Given the description of an element on the screen output the (x, y) to click on. 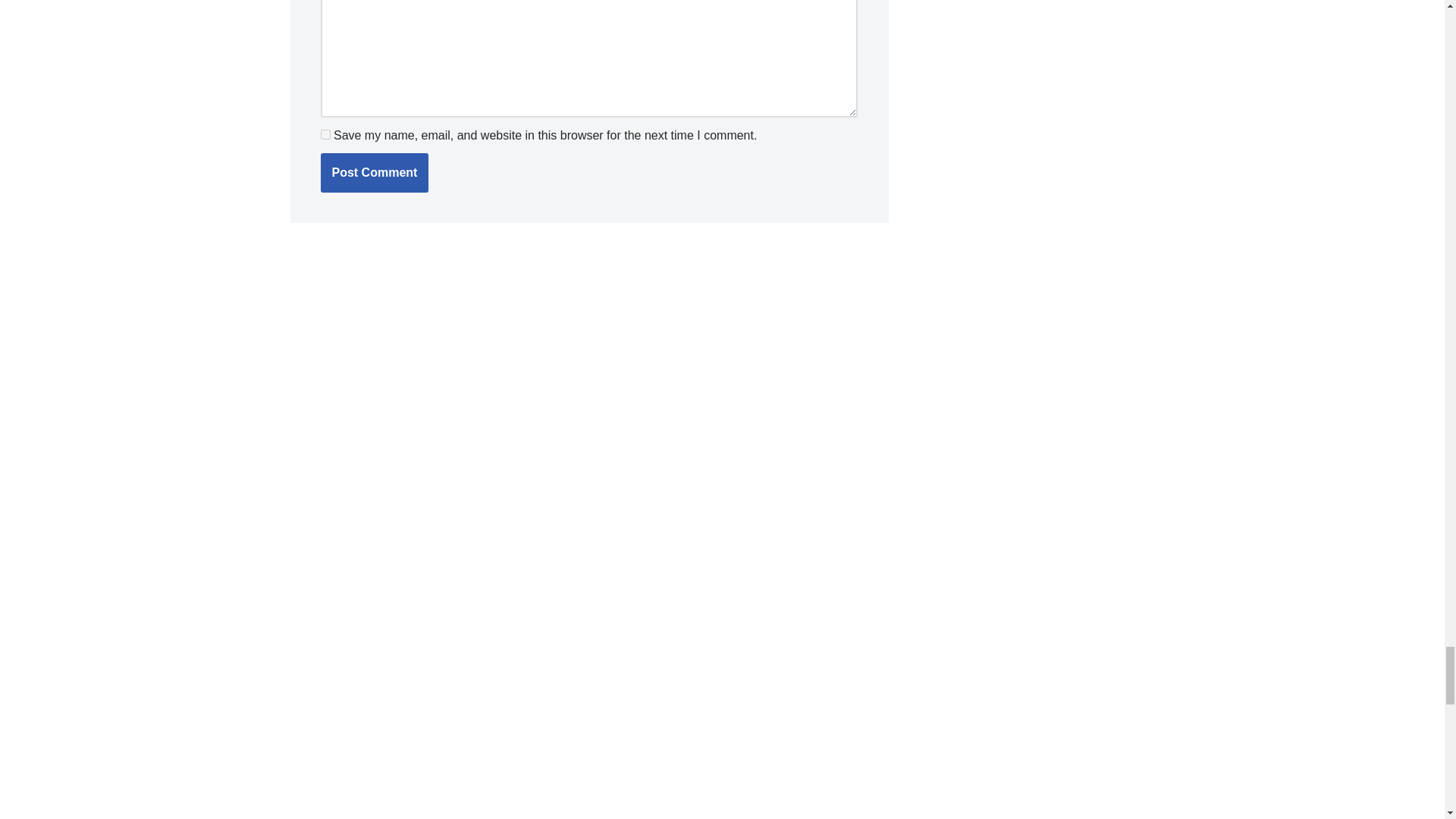
yes (325, 134)
Post Comment (374, 172)
Post Comment (374, 172)
